Given the description of an element on the screen output the (x, y) to click on. 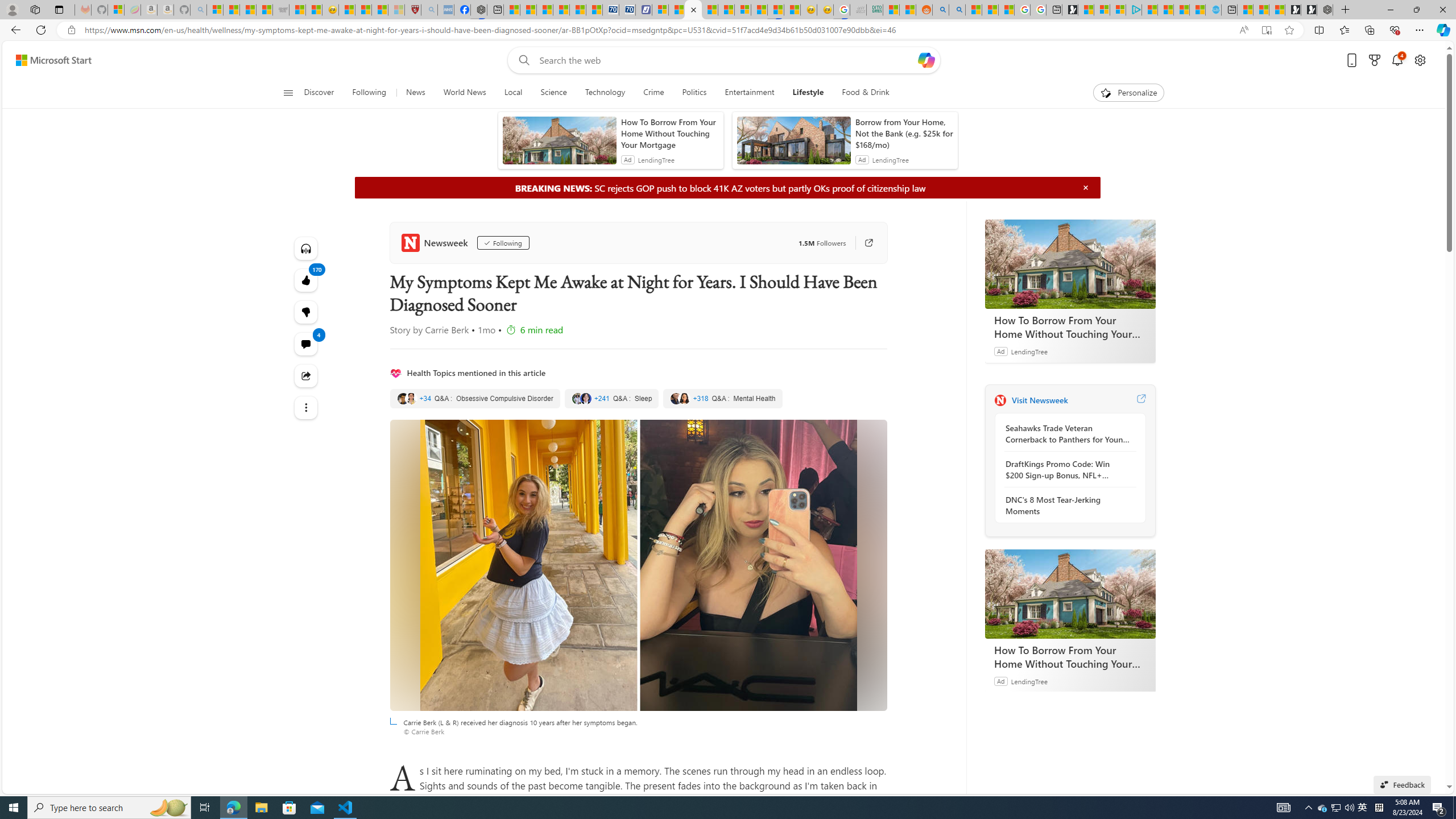
View comments 4 Comment (305, 343)
Visit Newsweek website (1140, 399)
Science (553, 92)
Entertainment (748, 92)
Go to publisher's site (863, 242)
Feedback (1402, 784)
Microsoft-Report a Concern to Bing (116, 9)
World News (464, 92)
Notifications (1397, 60)
How To Borrow From Your Home Without Touching Your Mortgage (1070, 593)
